Given the description of an element on the screen output the (x, y) to click on. 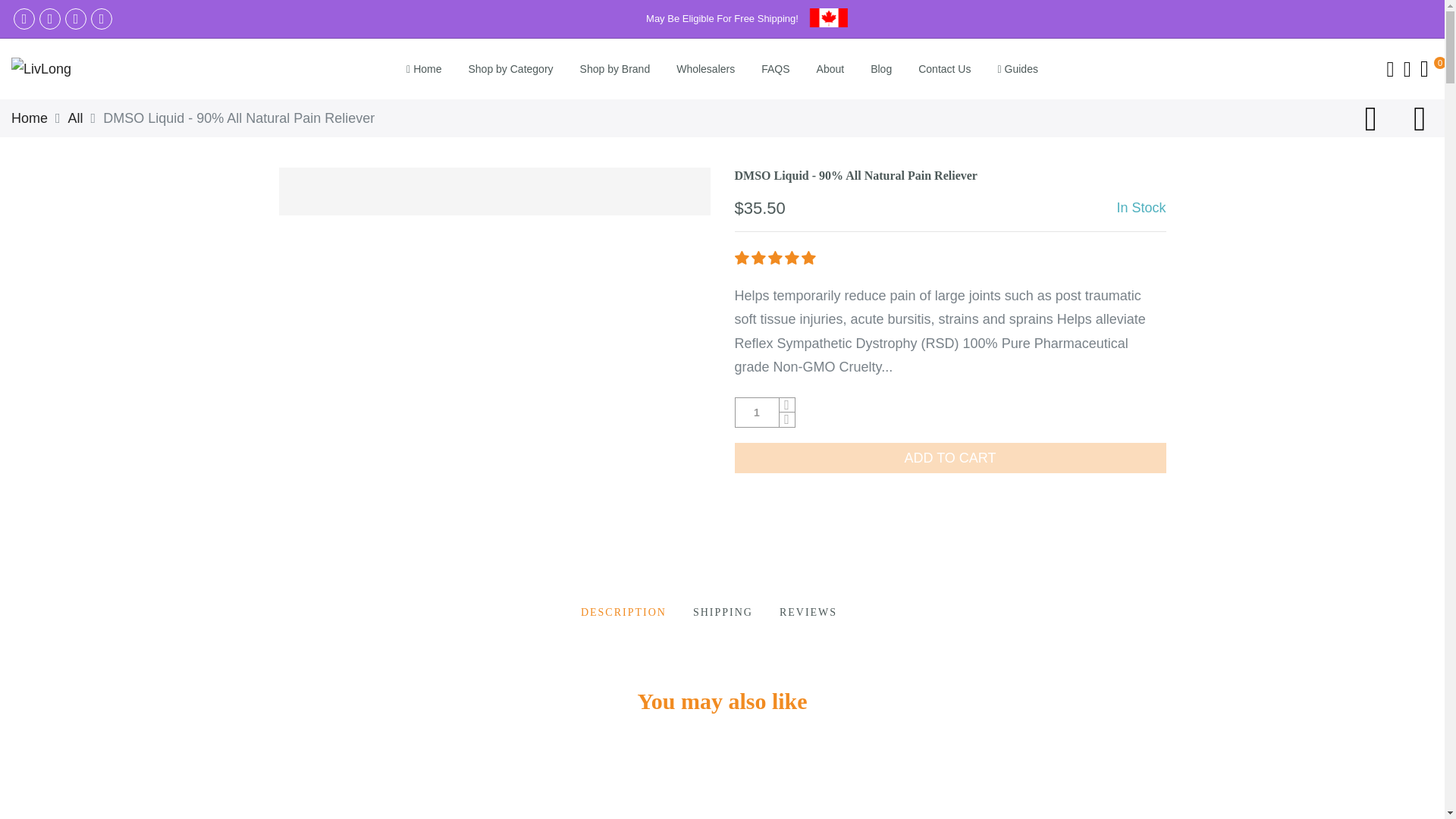
View your shopping cart (1424, 69)
Qty (756, 412)
1 (756, 412)
